Given the description of an element on the screen output the (x, y) to click on. 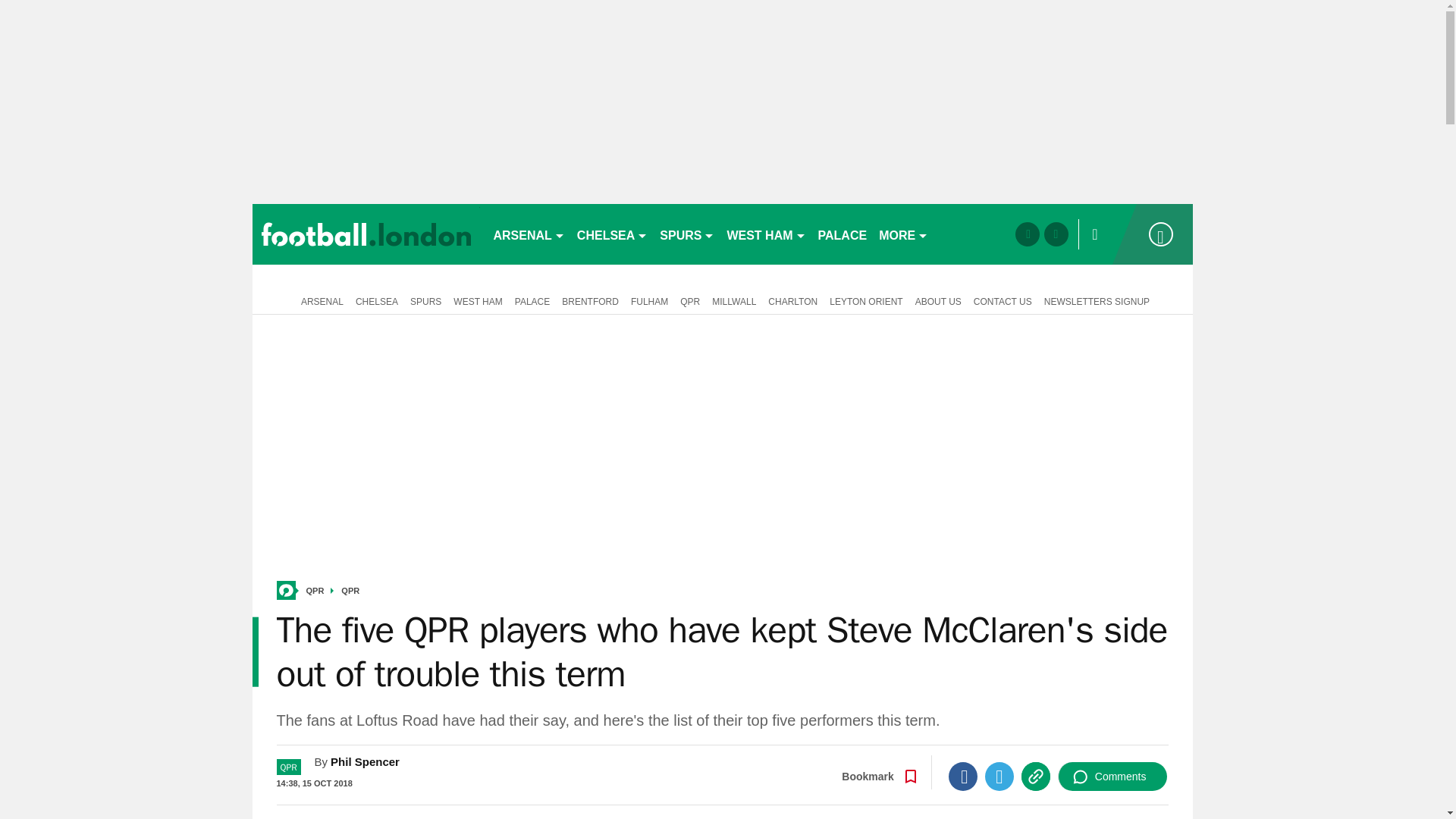
MORE (903, 233)
Facebook (962, 776)
SPURS (686, 233)
footballlondon (365, 233)
facebook (1026, 233)
twitter (1055, 233)
ARSENAL (528, 233)
PALACE (842, 233)
WEST HAM (765, 233)
CHELSEA (611, 233)
